Given the description of an element on the screen output the (x, y) to click on. 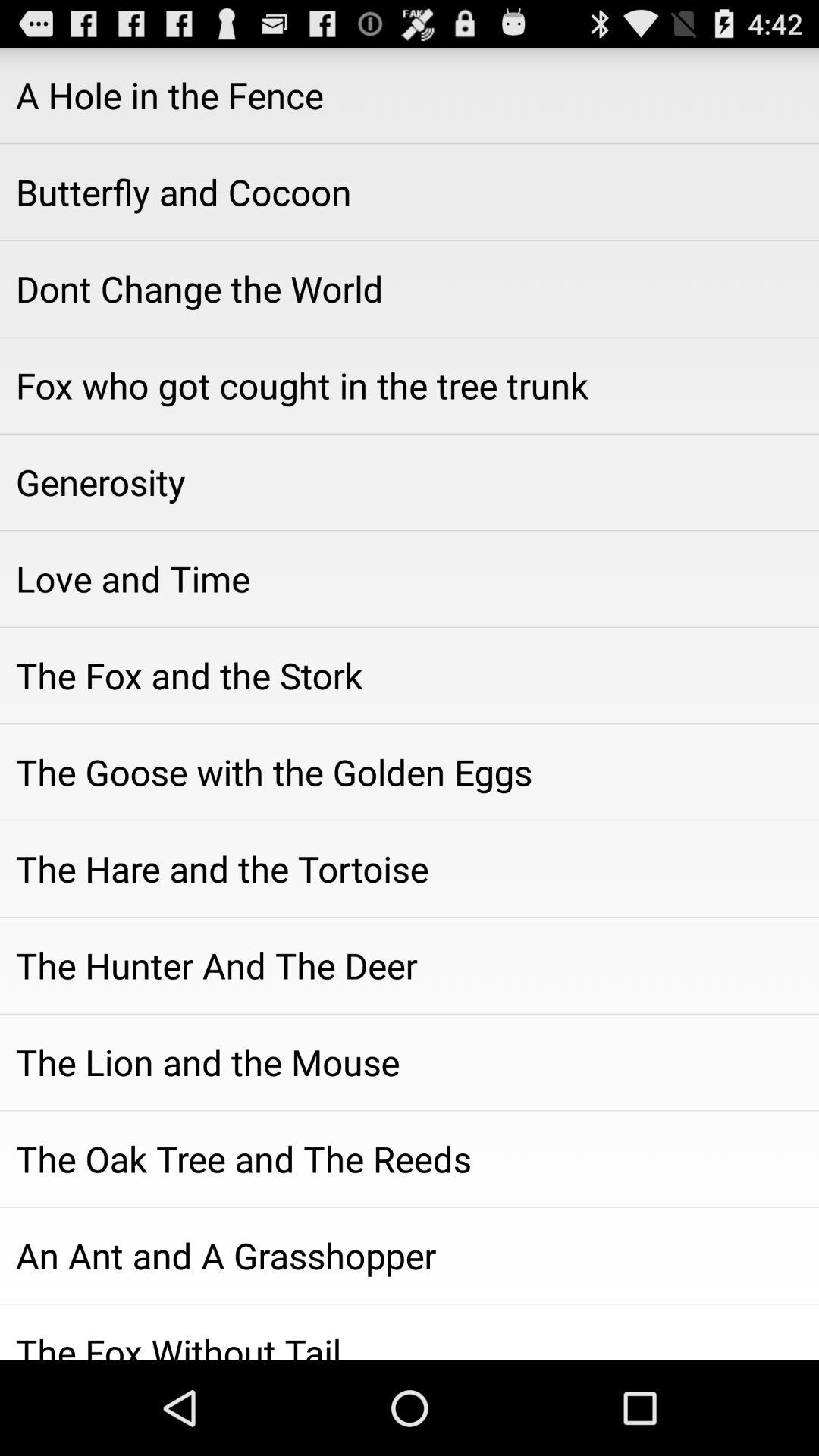
press the the goose with icon (409, 772)
